Given the description of an element on the screen output the (x, y) to click on. 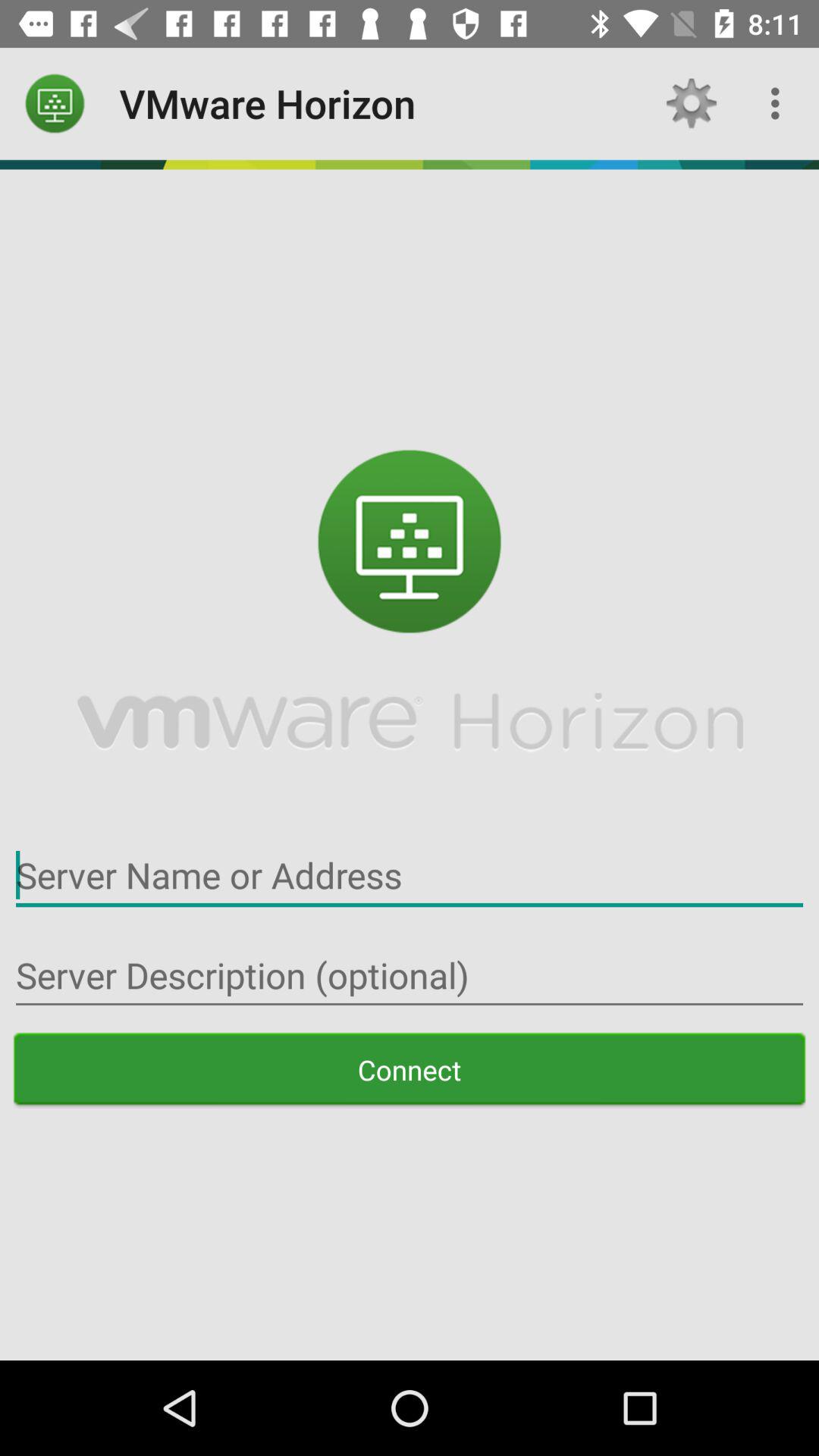
enter server name (409, 875)
